Given the description of an element on the screen output the (x, y) to click on. 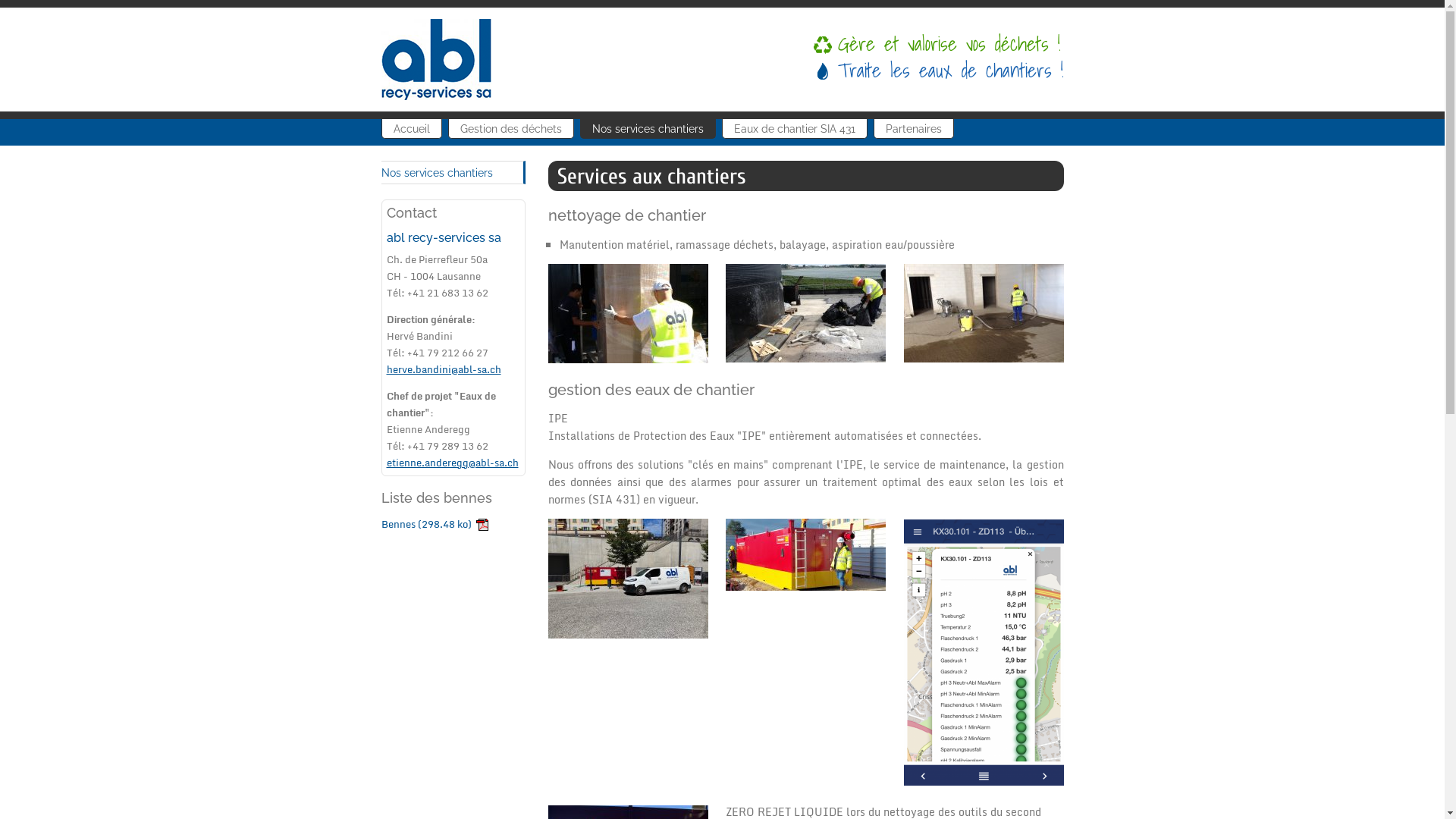
Nos services chantiers Element type: text (452, 172)
herve.bandini@abl-sa.ch Element type: text (443, 368)
Eaux de chantier SIA 431 Element type: text (794, 128)
etienne.anderegg@abl-sa.ch Element type: text (452, 462)
Accueil Element type: text (410, 128)
Bennes (298.48 ko) Element type: text (433, 523)
Partenaires Element type: text (913, 128)
Nos services chantiers Element type: text (647, 128)
